Given the description of an element on the screen output the (x, y) to click on. 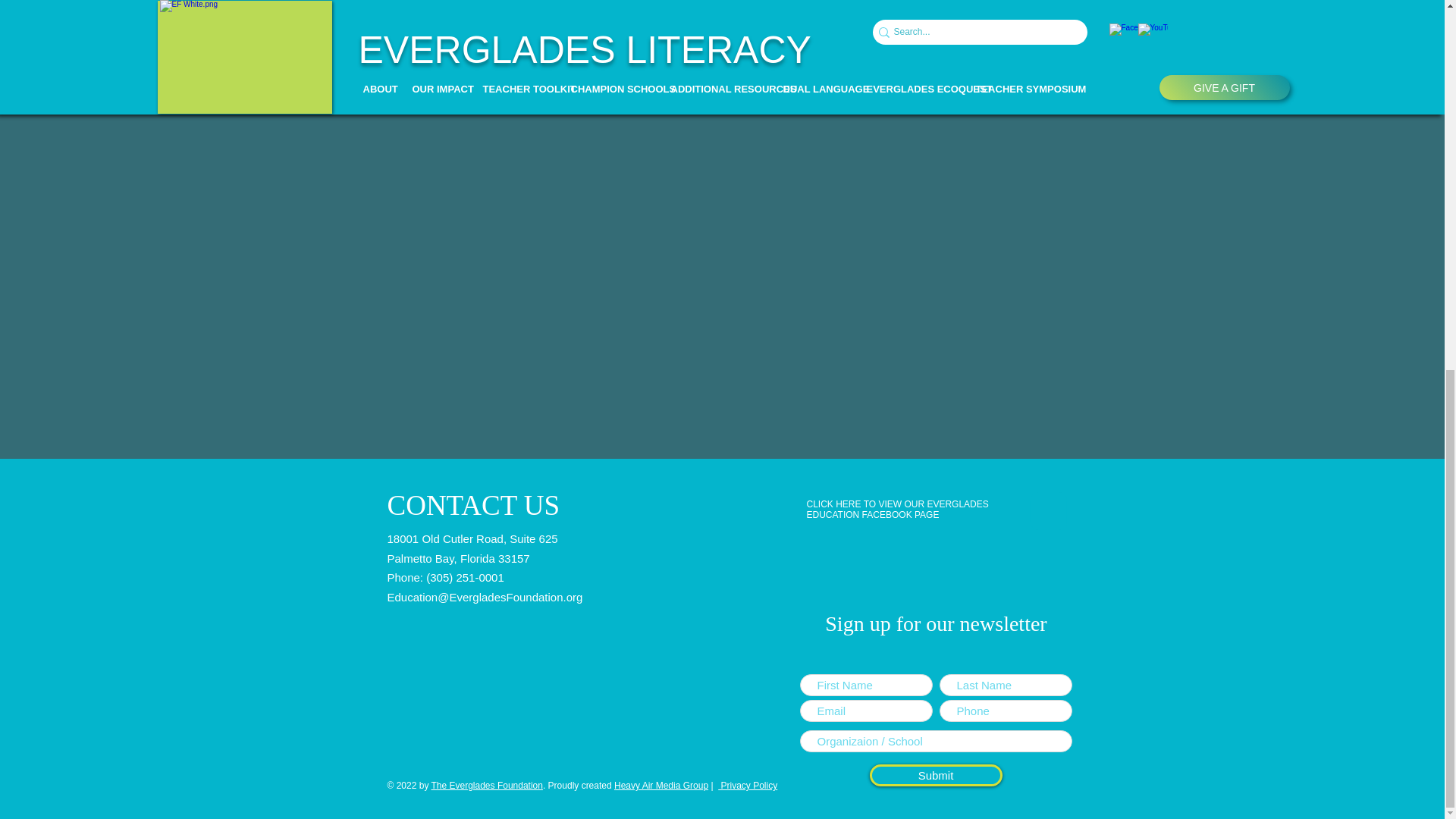
The Everglades Foundation (485, 785)
Heavy Air Media Group (660, 785)
Submit (935, 775)
CLICK HERE TO VIEW OUR EVERGLADES EDUCATION FACEBOOK PAGE (897, 509)
   Privacy Policy (745, 785)
